Given the description of an element on the screen output the (x, y) to click on. 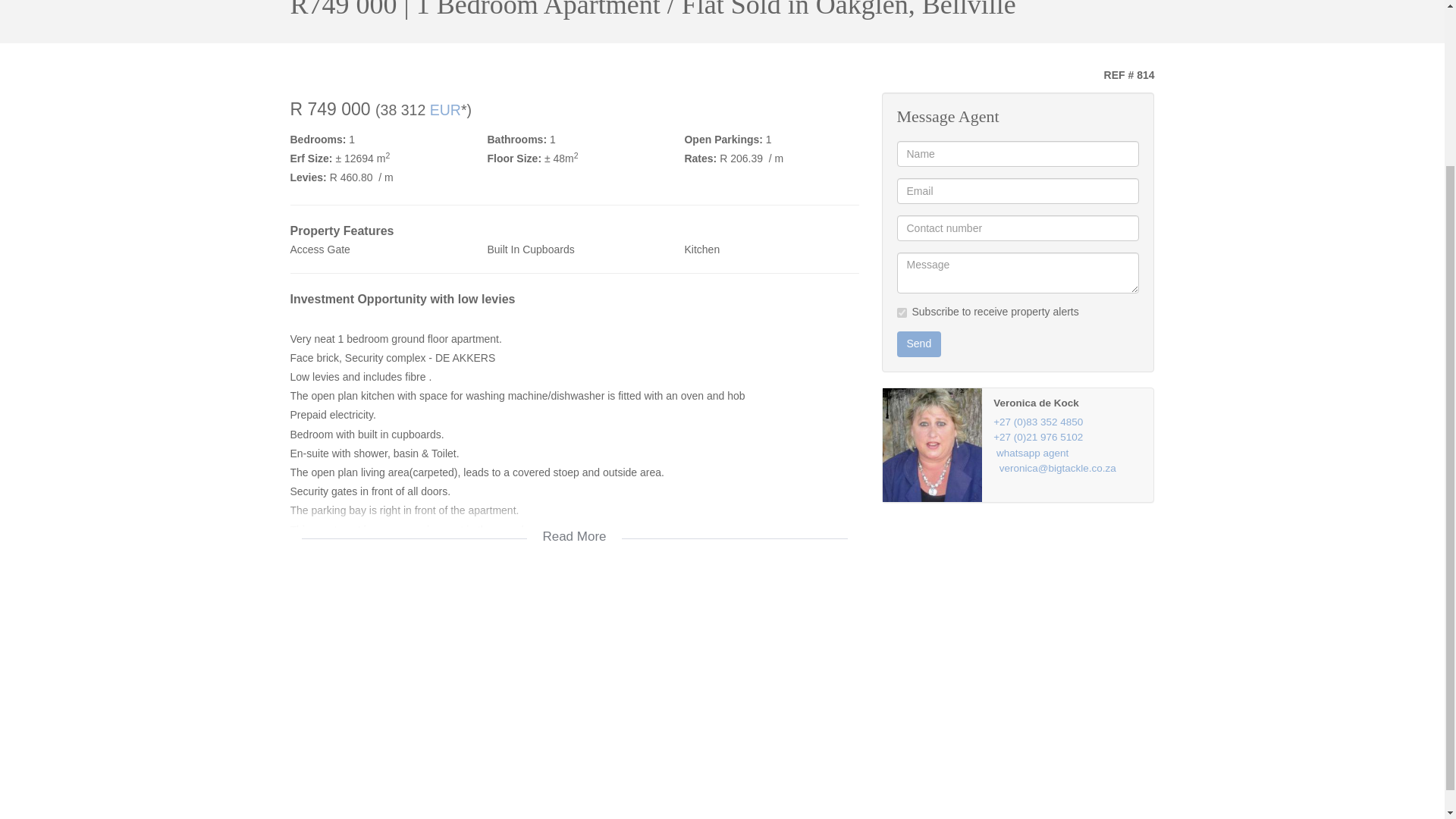
on (900, 312)
Read More (574, 527)
google map (574, 689)
